Given the description of an element on the screen output the (x, y) to click on. 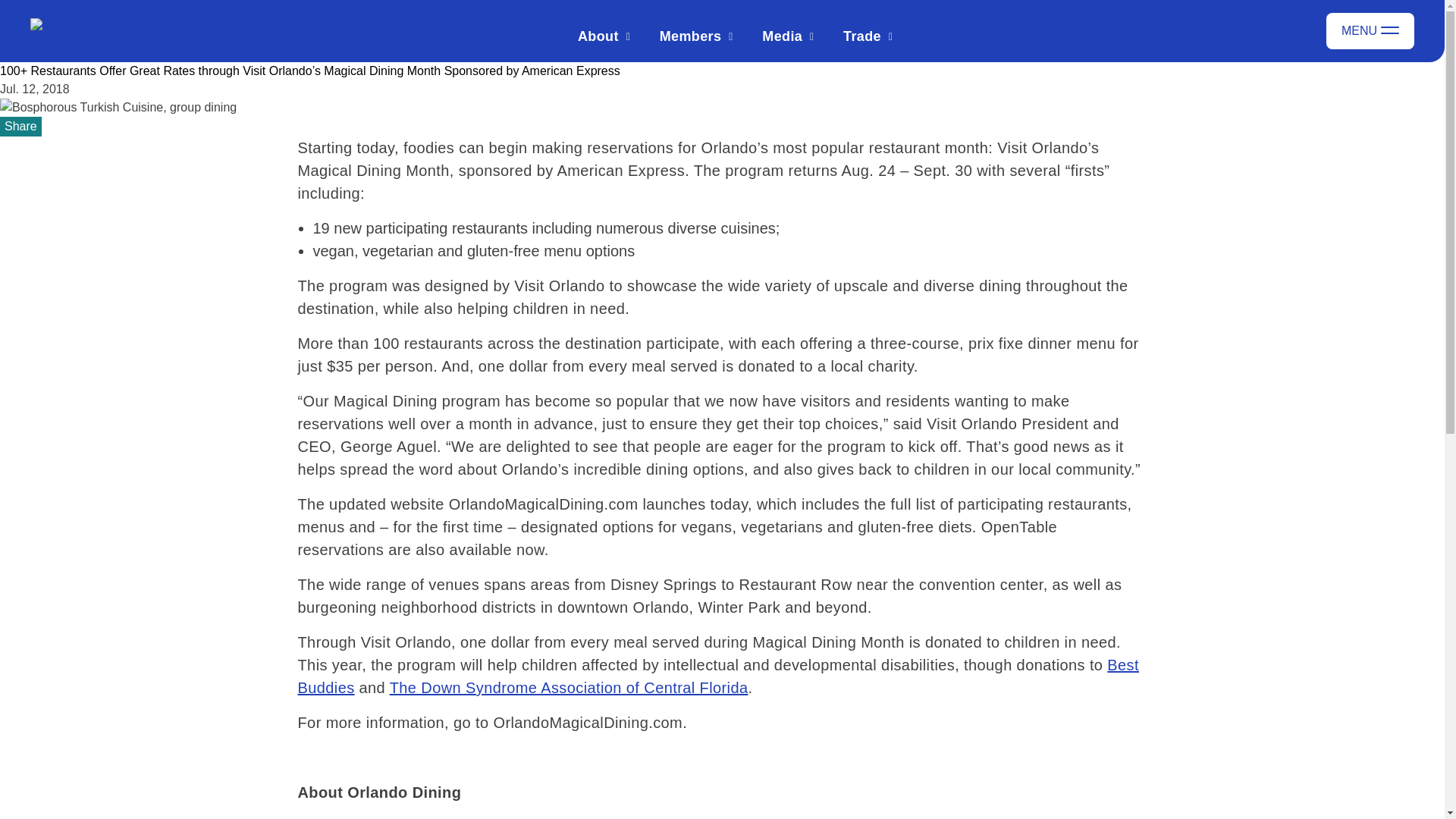
About (598, 36)
Members (690, 36)
Media (781, 36)
Trade (861, 36)
MENU (1369, 31)
